Given the description of an element on the screen output the (x, y) to click on. 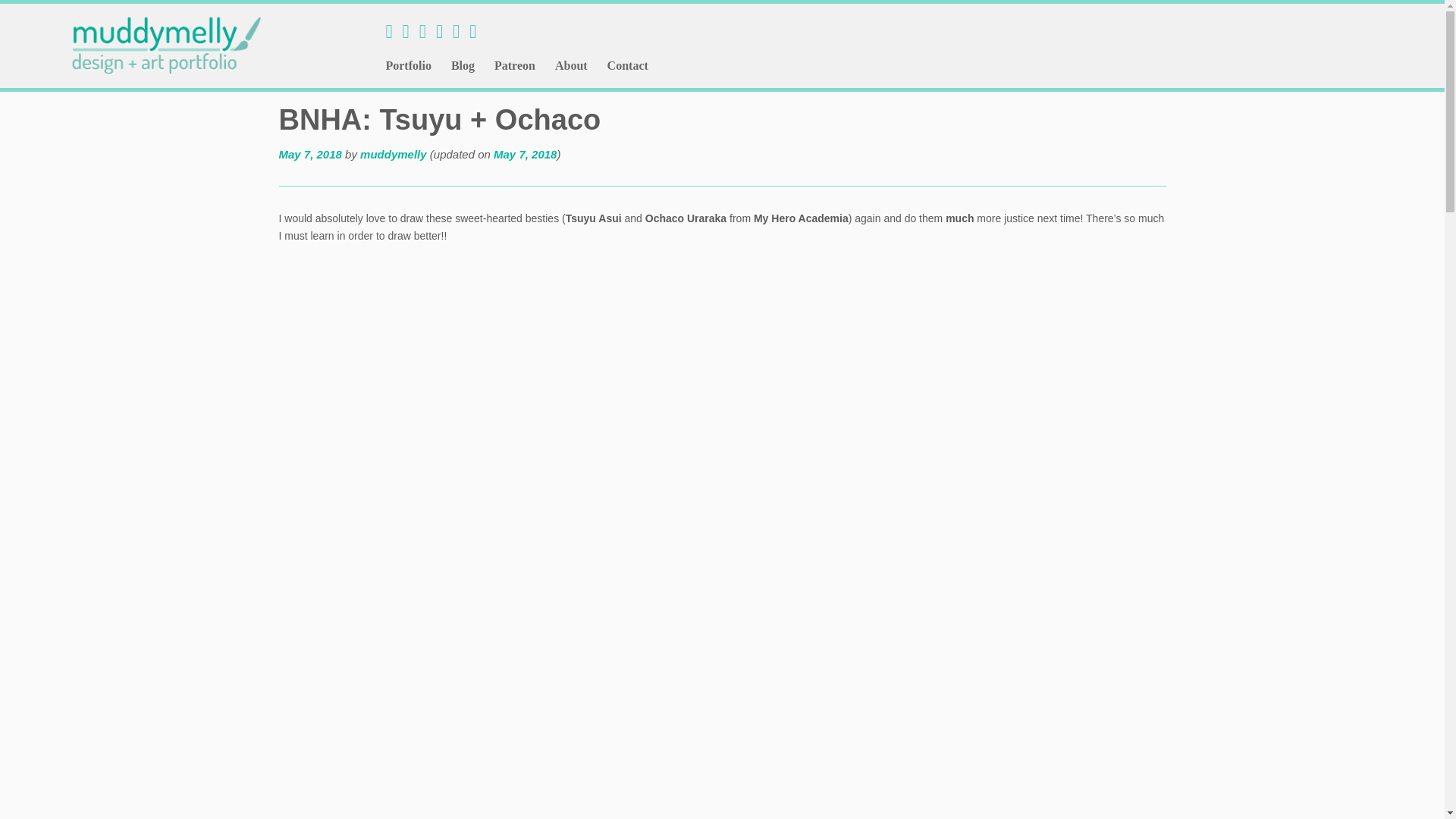
May 7, 2018 (310, 154)
View all posts by muddymelly (392, 154)
Portfolio (411, 65)
1:07 AM (524, 154)
Contact (621, 65)
Blog (462, 65)
About (570, 65)
Patreon (514, 65)
muddymelly (392, 154)
1:07 AM (310, 154)
